Given the description of an element on the screen output the (x, y) to click on. 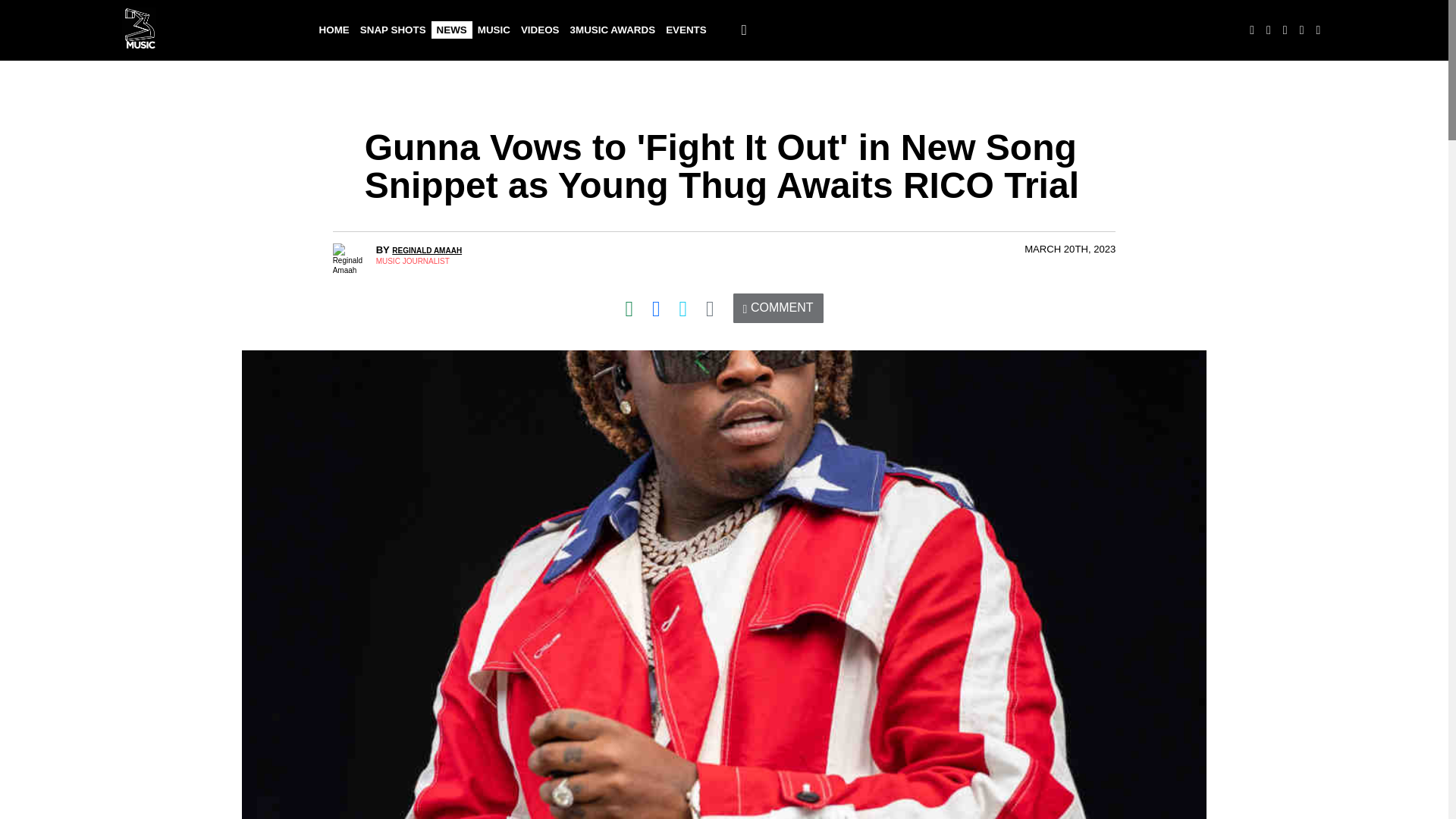
MUSIC (493, 29)
3MUSIC AWARDS (612, 29)
NEWS (450, 29)
Twitter (683, 307)
EVENTS (686, 29)
Facebook (656, 307)
VIDEOS (539, 29)
HOME (334, 29)
SNAP SHOTS (392, 29)
Email (710, 307)
